Given the description of an element on the screen output the (x, y) to click on. 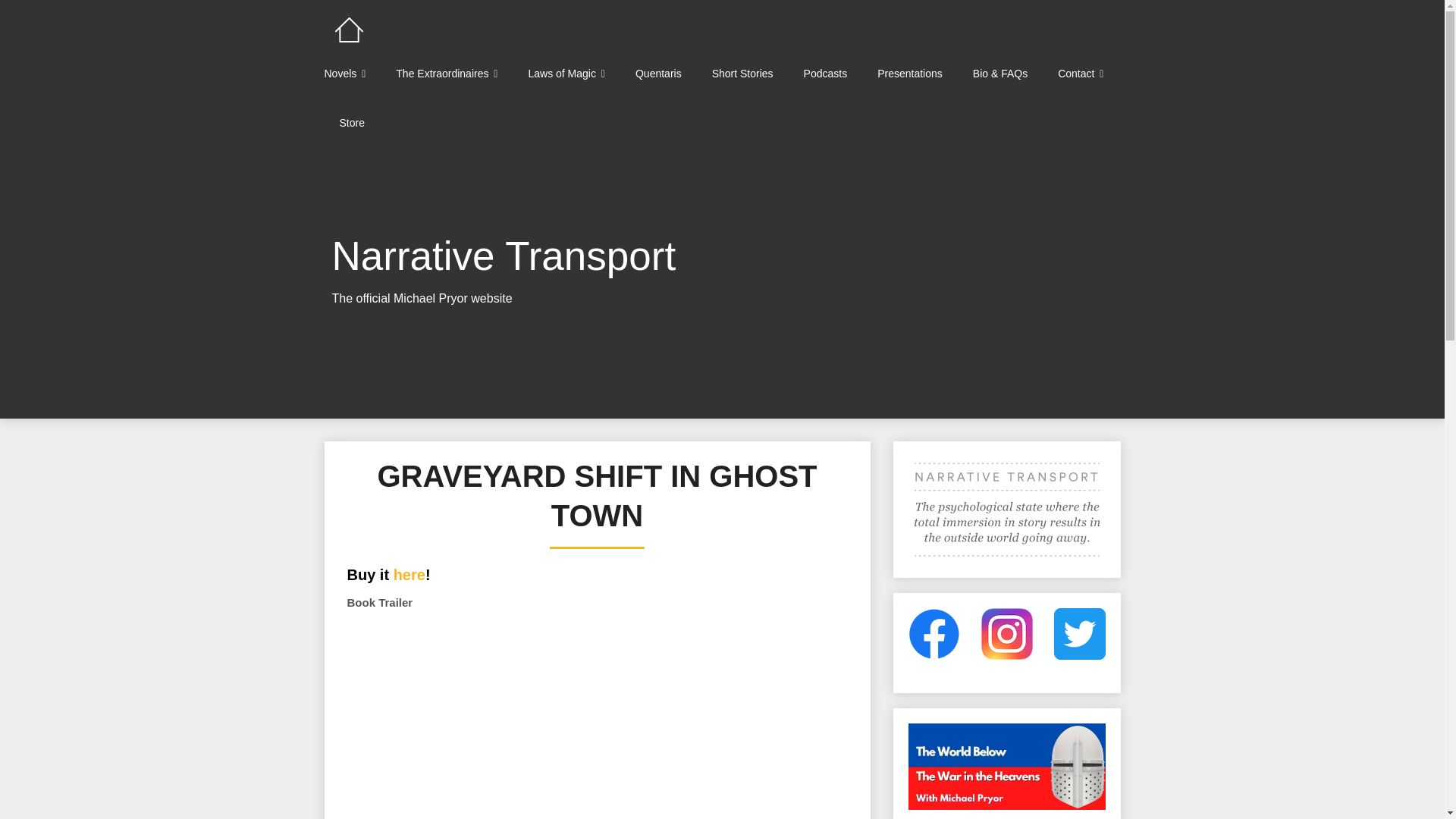
Novels (352, 73)
Short Stories (743, 73)
Podcasts (826, 73)
The Extraordinaires (446, 73)
Store (352, 123)
Laws of Magic (566, 73)
Quentaris (658, 73)
Contact (1080, 73)
Presentations (909, 73)
here (409, 574)
